Given the description of an element on the screen output the (x, y) to click on. 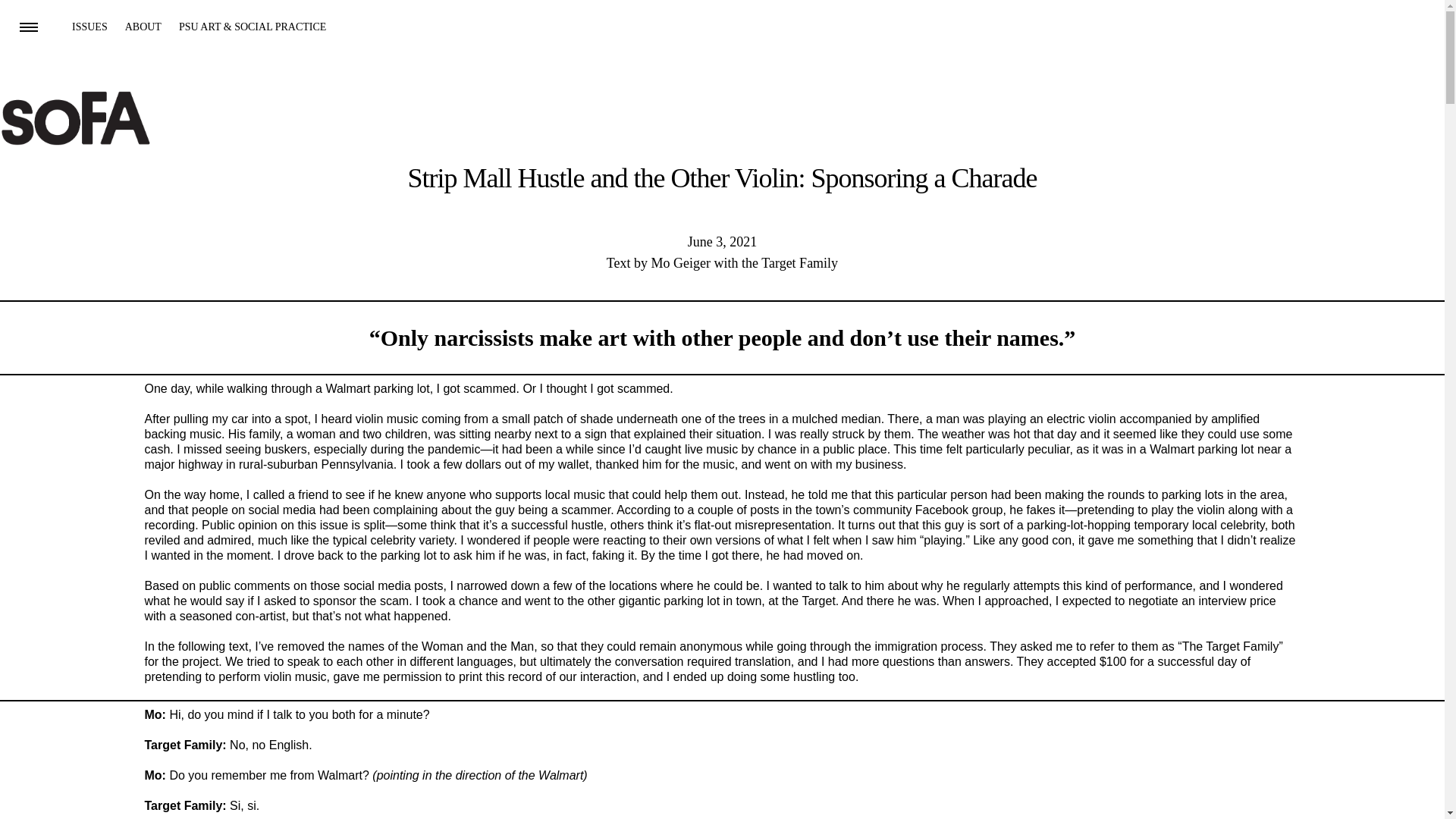
ABOUT (143, 26)
ISSUES (89, 26)
